Given the description of an element on the screen output the (x, y) to click on. 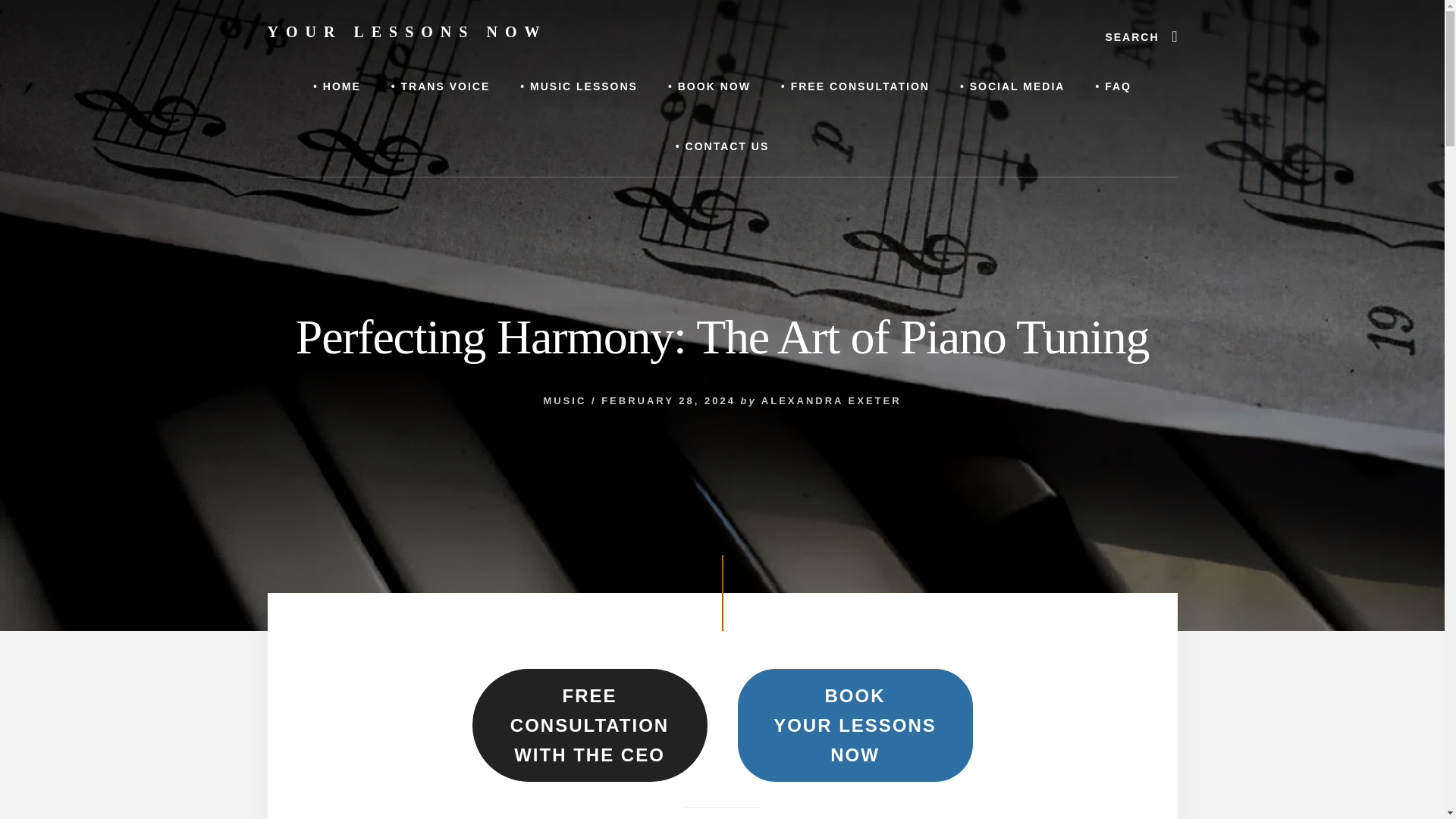
YOUR LESSONS NOW (406, 31)
Trans Voice Training (440, 86)
